Given the description of an element on the screen output the (x, y) to click on. 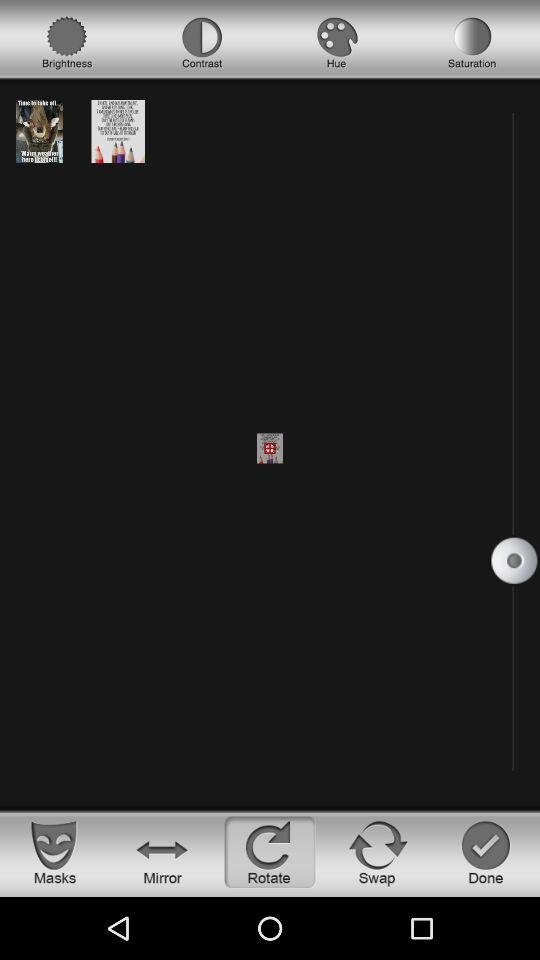
indicate you are done (485, 852)
